Given the description of an element on the screen output the (x, y) to click on. 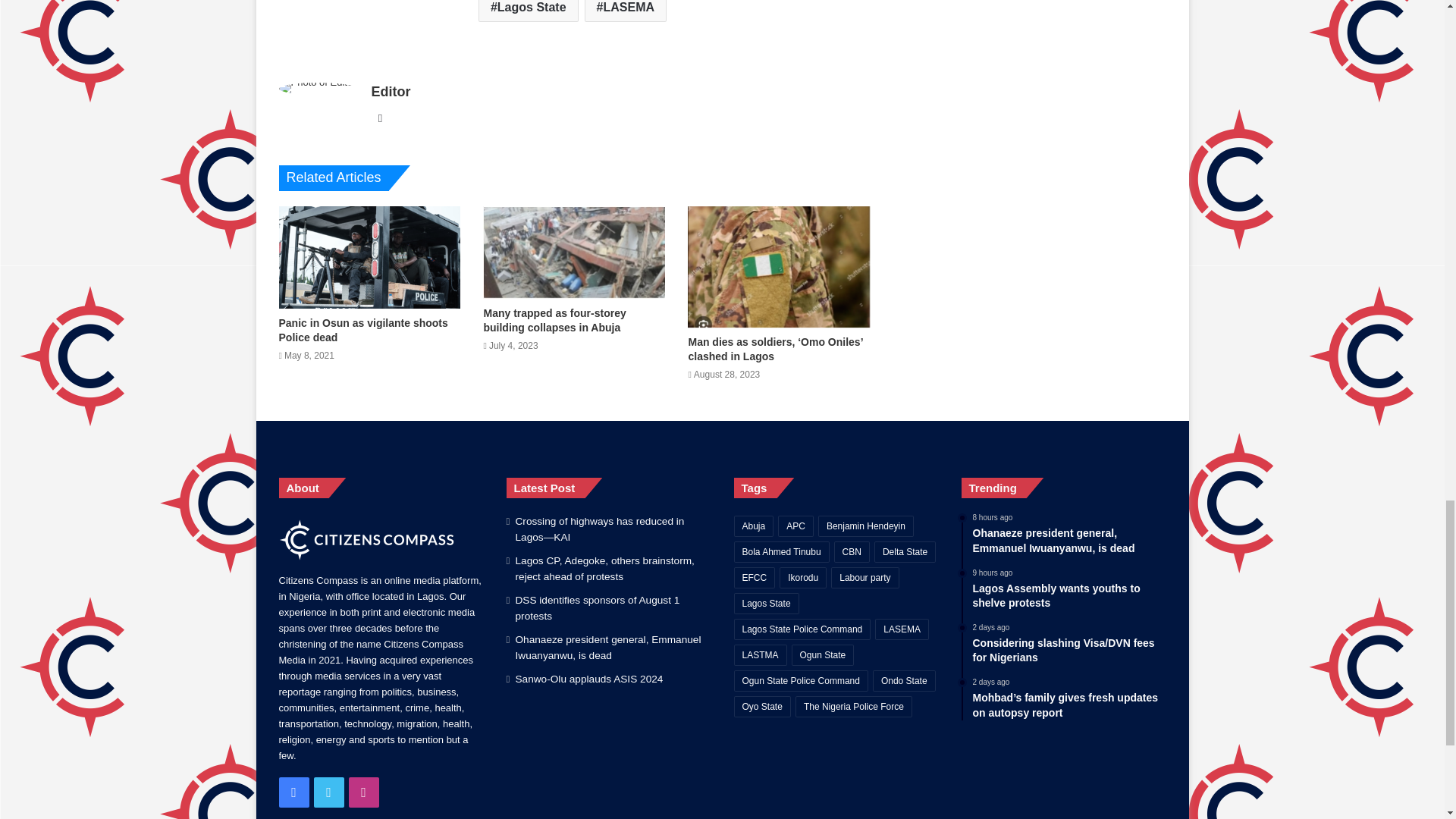
Lagos State (528, 11)
LASEMA (625, 11)
